Given the description of an element on the screen output the (x, y) to click on. 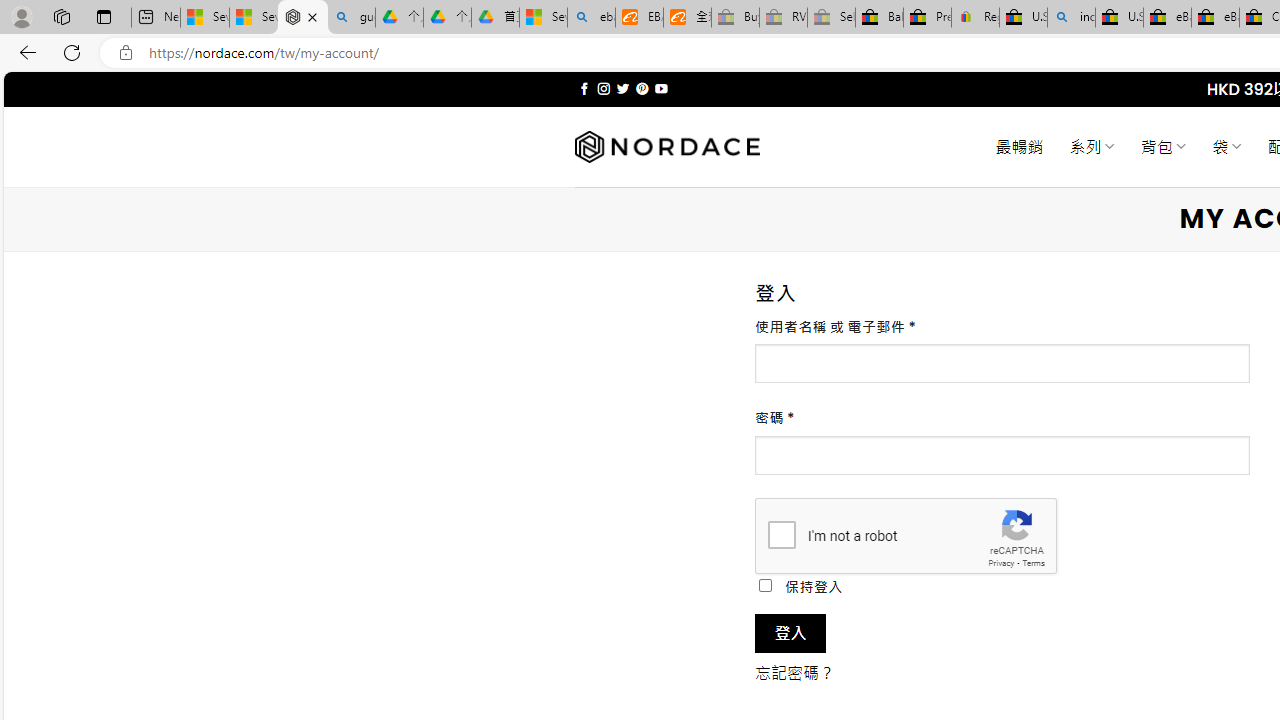
Buy Auto Parts & Accessories | eBay - Sleeping (735, 17)
Nordace - My Account (302, 17)
Follow on YouTube (661, 88)
Follow on Pinterest (642, 88)
Follow on Facebook (584, 88)
